Given the description of an element on the screen output the (x, y) to click on. 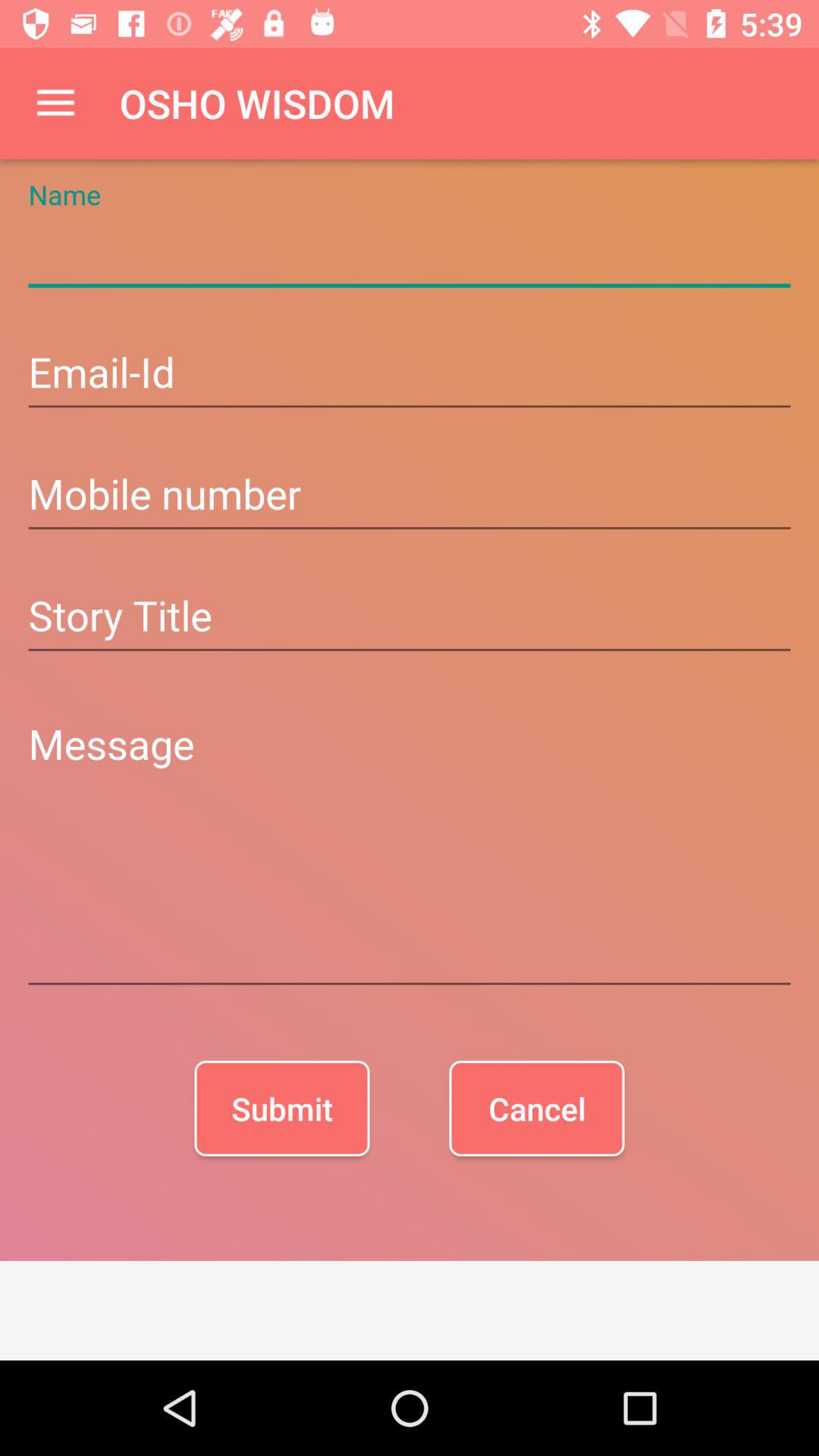
type message (409, 850)
